Given the description of an element on the screen output the (x, y) to click on. 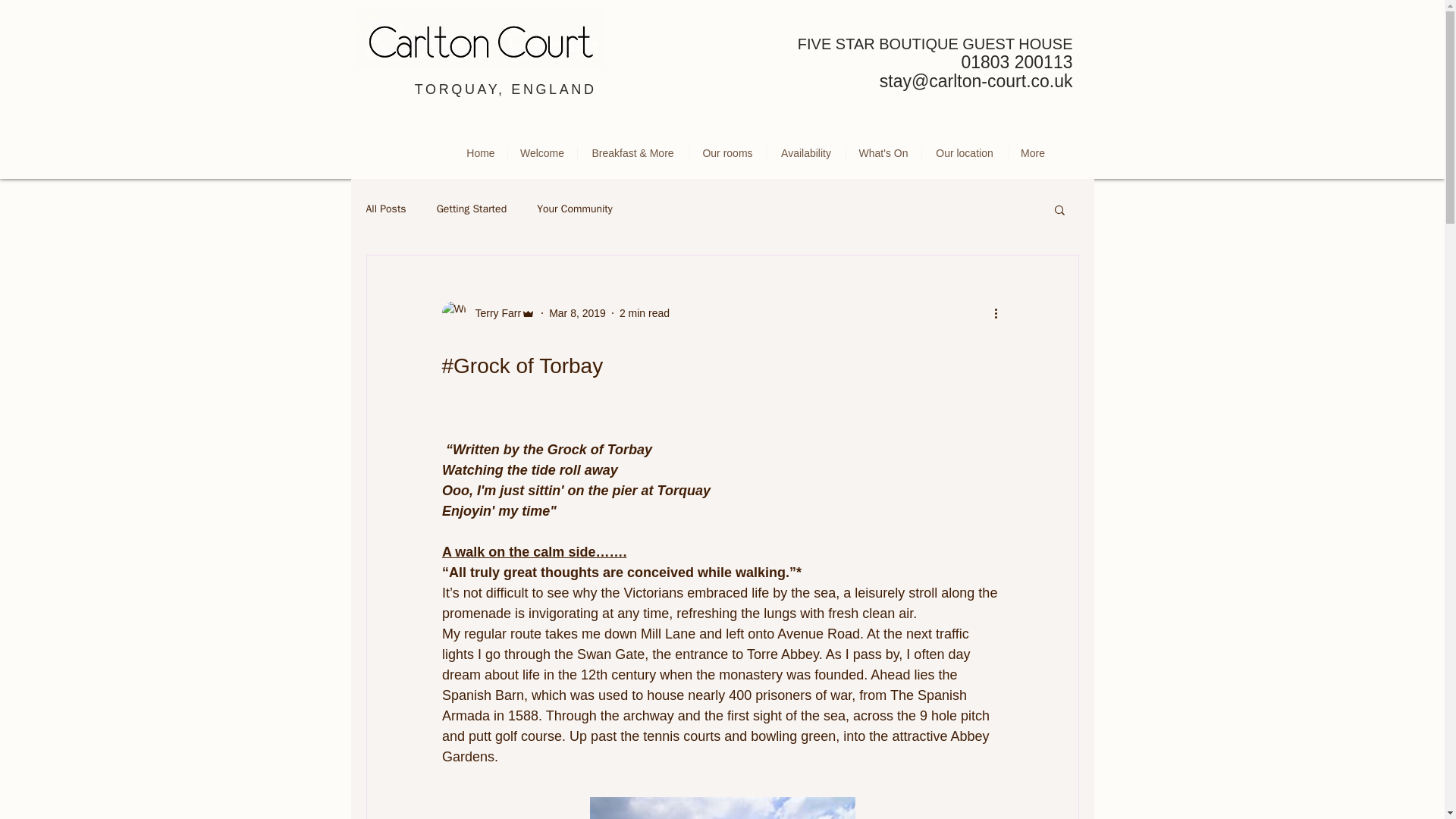
Terry Farr (488, 313)
What's On (883, 152)
Your Community (574, 209)
Getting Started (471, 209)
Our location (964, 152)
All Posts (385, 209)
Our rooms (726, 152)
2 min read (644, 312)
Mar 8, 2019 (576, 312)
Home (480, 152)
Welcome (542, 152)
Availability (806, 152)
Terry Farr (493, 312)
